Given the description of an element on the screen output the (x, y) to click on. 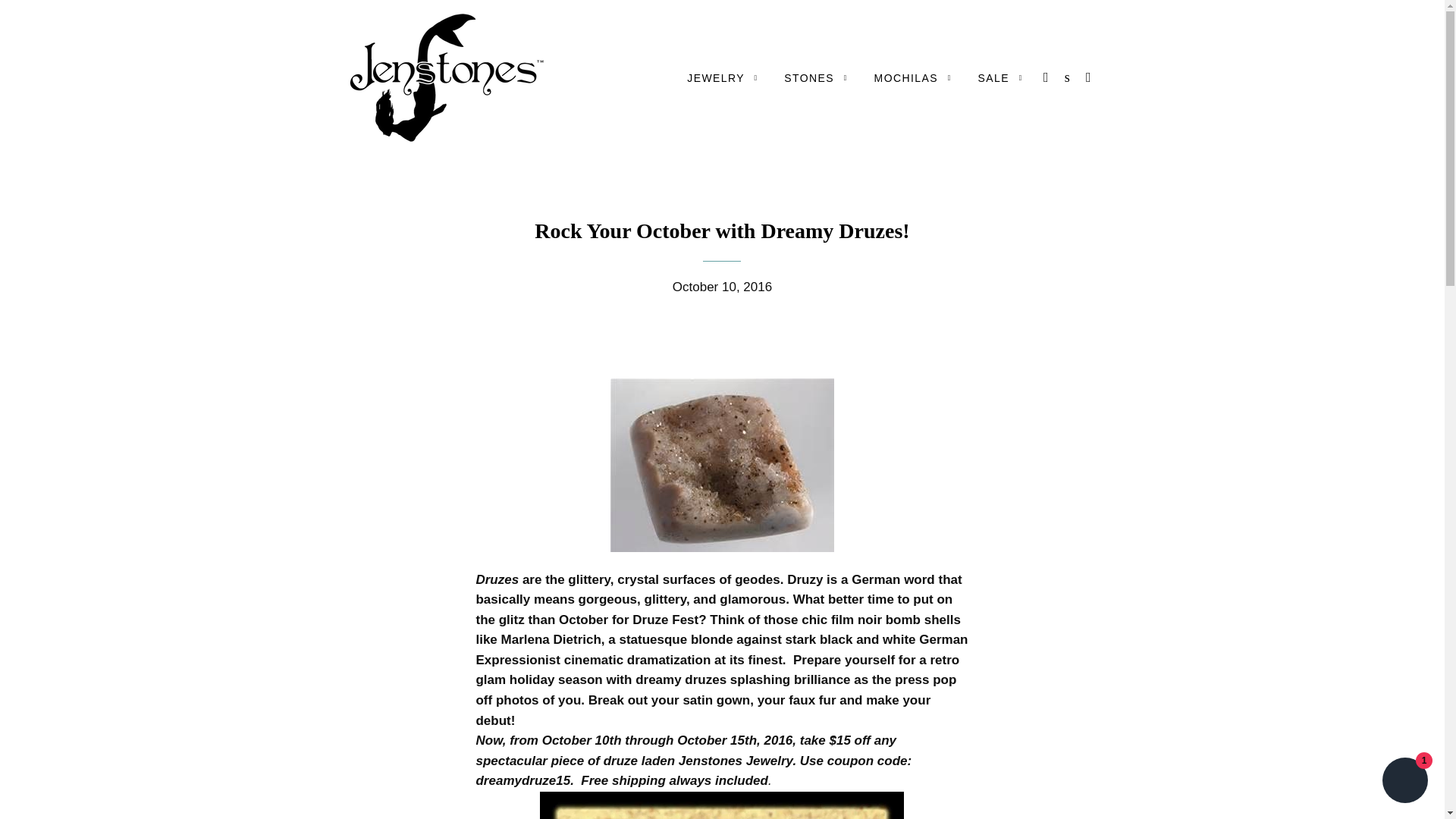
Shopify online store chat (1404, 781)
